Given the description of an element on the screen output the (x, y) to click on. 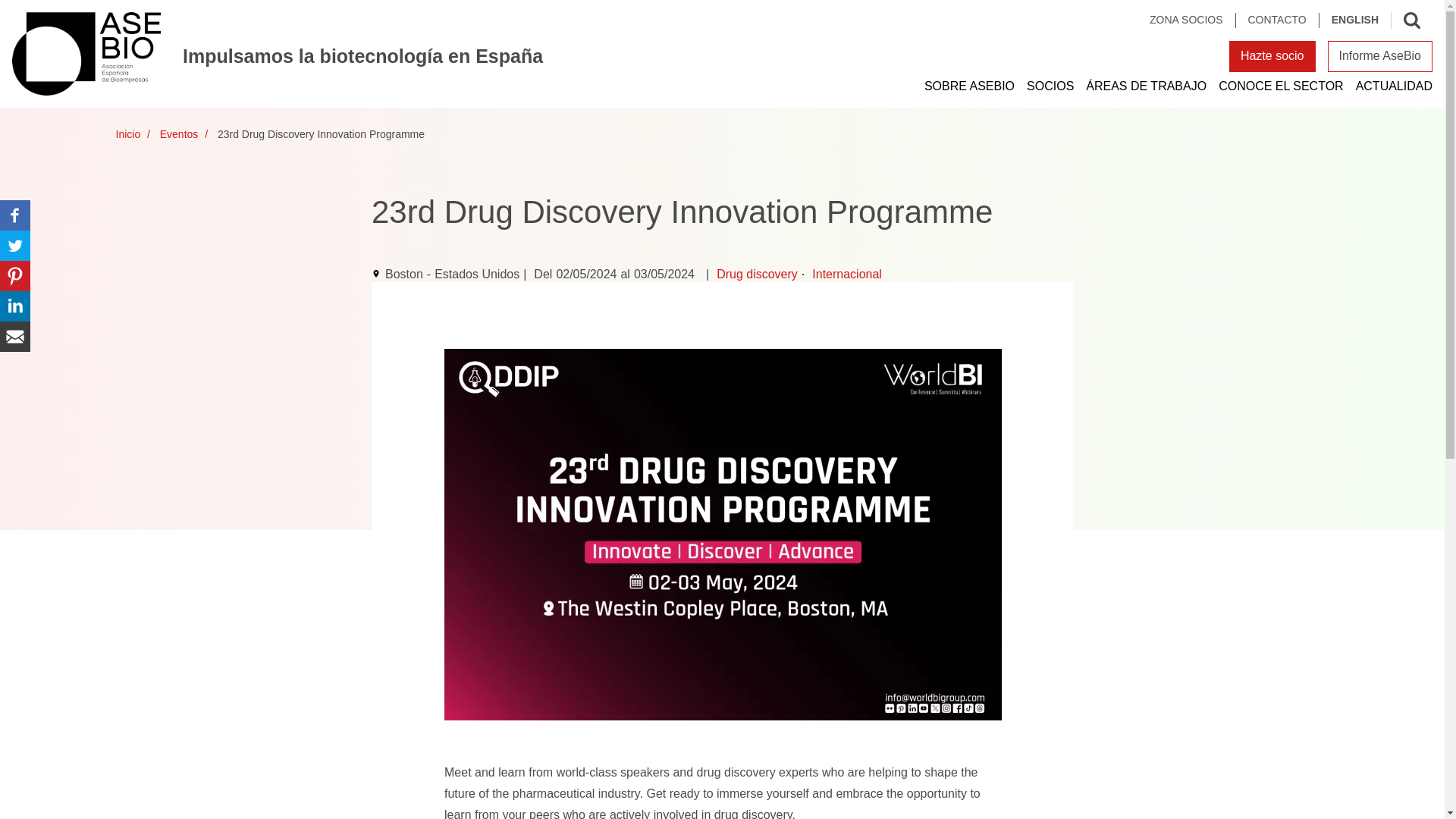
Toggle search (1411, 20)
Hazte socio (1272, 56)
ENGLISH (1354, 20)
CONTACTO (1277, 20)
ZONA SOCIOS (1192, 20)
Informe AseBio (1379, 56)
SOBRE ASEBIO (969, 86)
CONOCE EL SECTOR (1280, 86)
SOCIOS (1050, 86)
